Given the description of an element on the screen output the (x, y) to click on. 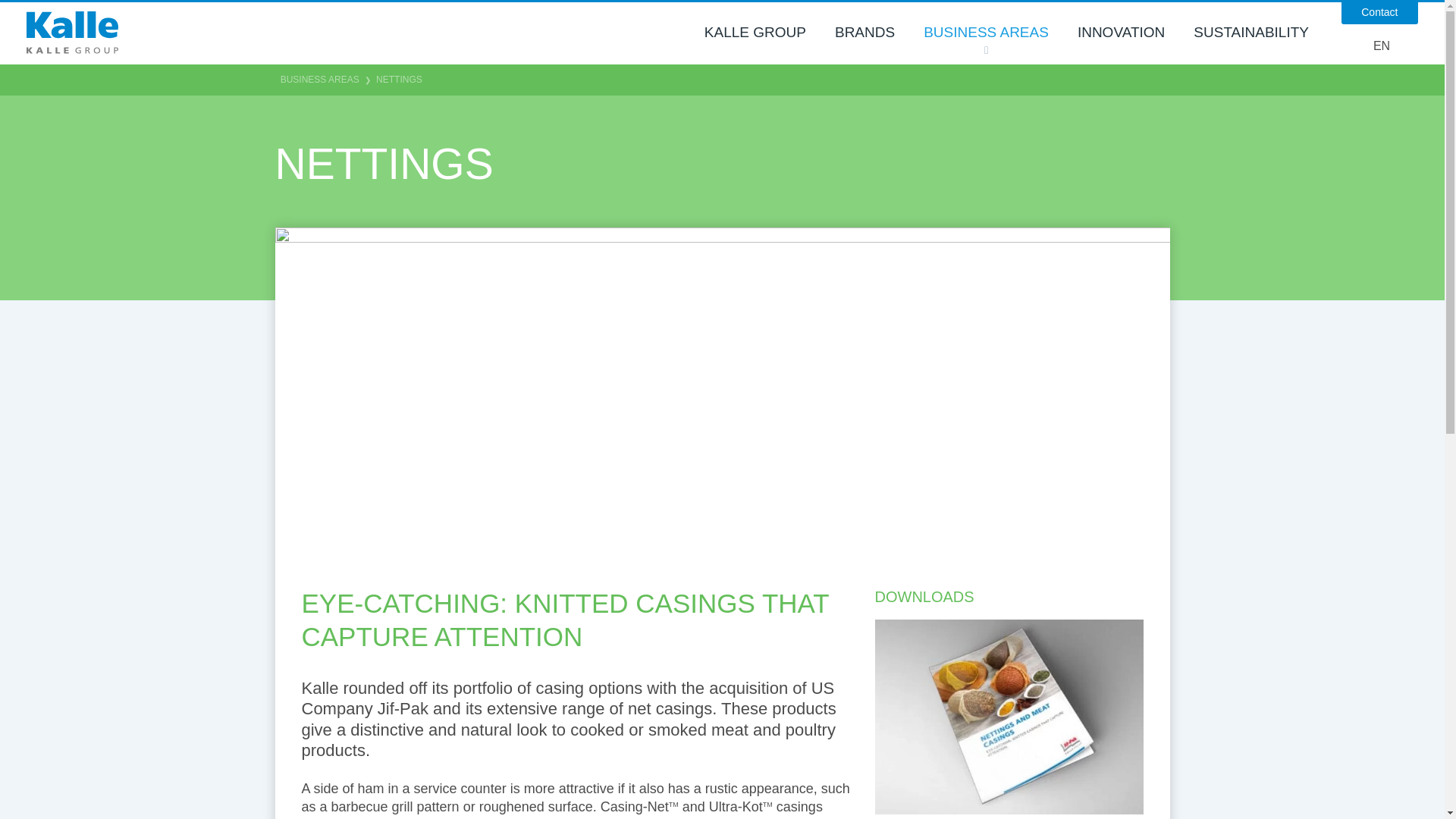
Contact (1379, 12)
EN (1381, 45)
